Given the description of an element on the screen output the (x, y) to click on. 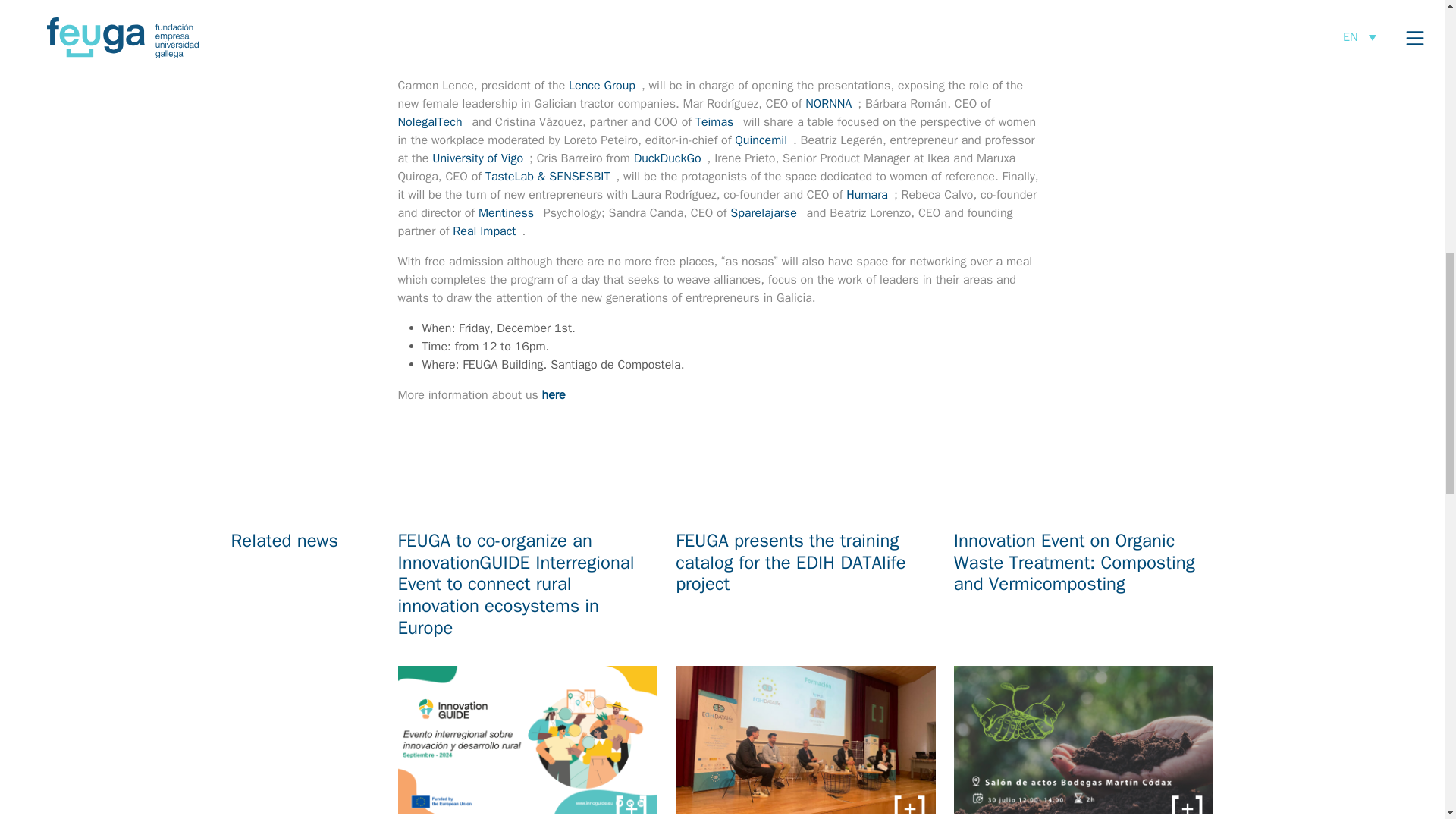
Quincemil (761, 140)
University of Vigo (477, 158)
Teimas (714, 121)
Startup Galicia (839, 37)
NolegalTech (429, 121)
Lence Group (601, 85)
